Given the description of an element on the screen output the (x, y) to click on. 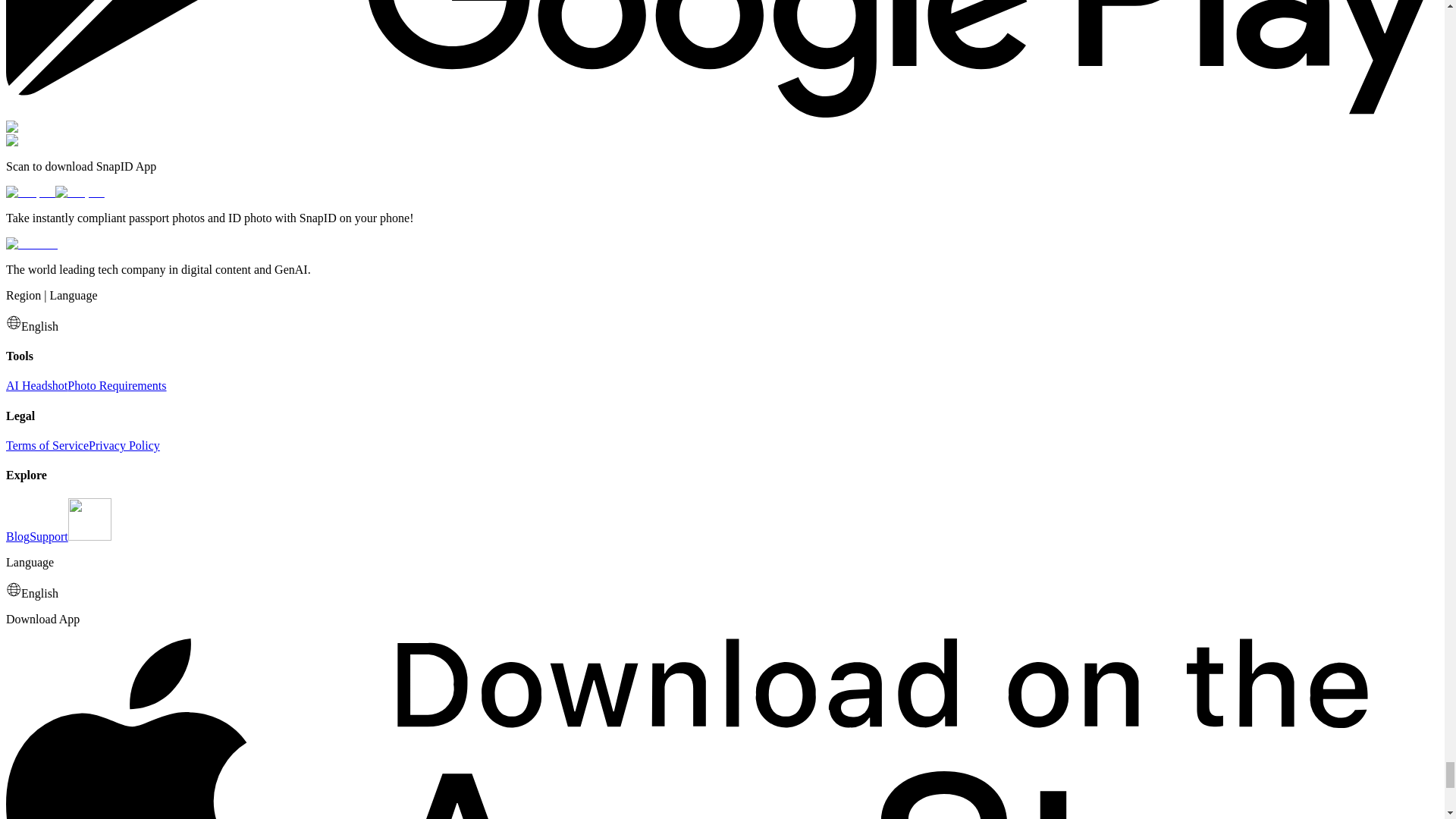
Support (48, 535)
Blog (17, 535)
AI Headshot (35, 385)
Privacy Policy (124, 445)
Terms of Service (46, 445)
Photo Requirements (115, 385)
